Given the description of an element on the screen output the (x, y) to click on. 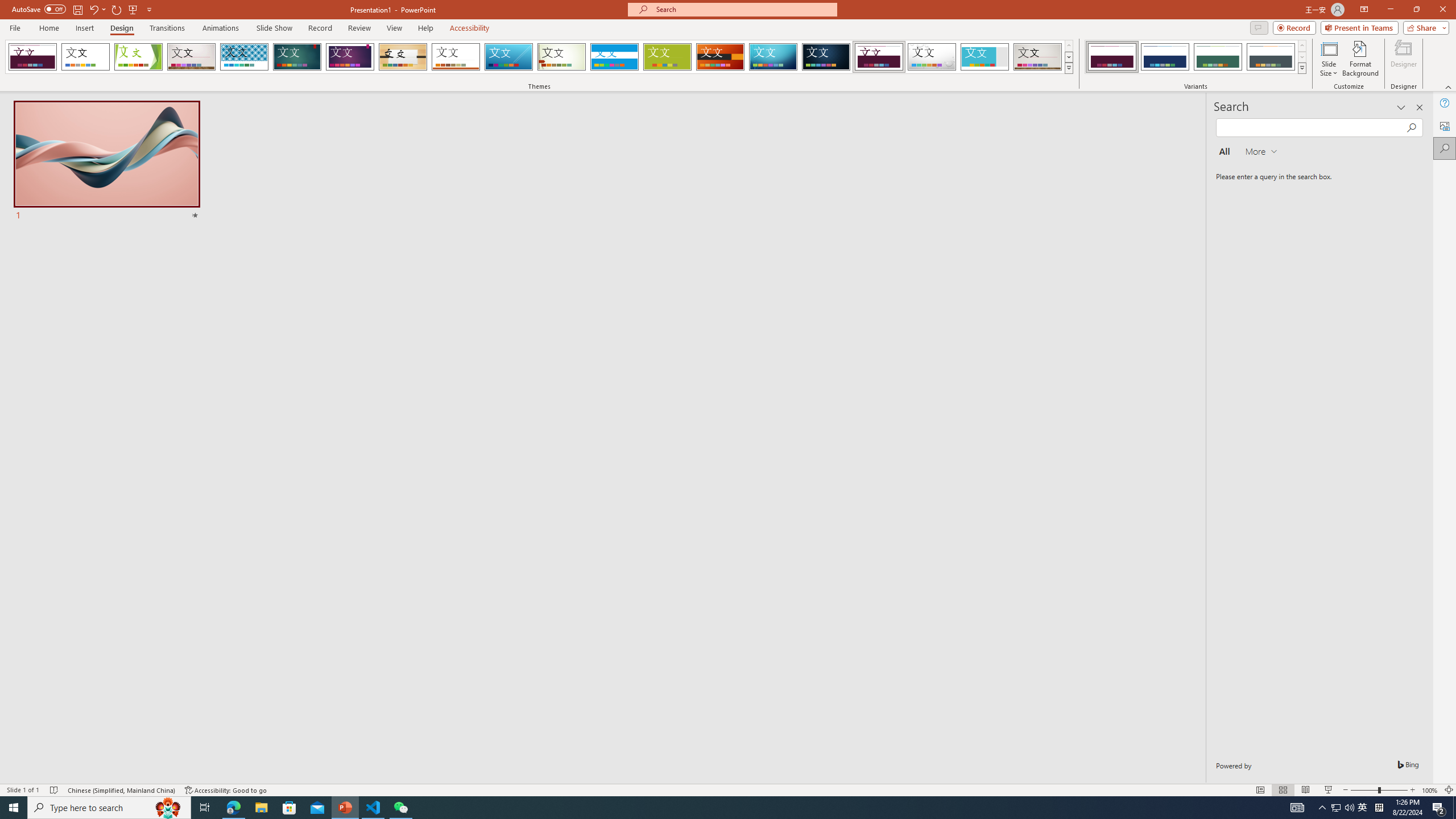
Dividend Variant 1 (1112, 56)
